Given the description of an element on the screen output the (x, y) to click on. 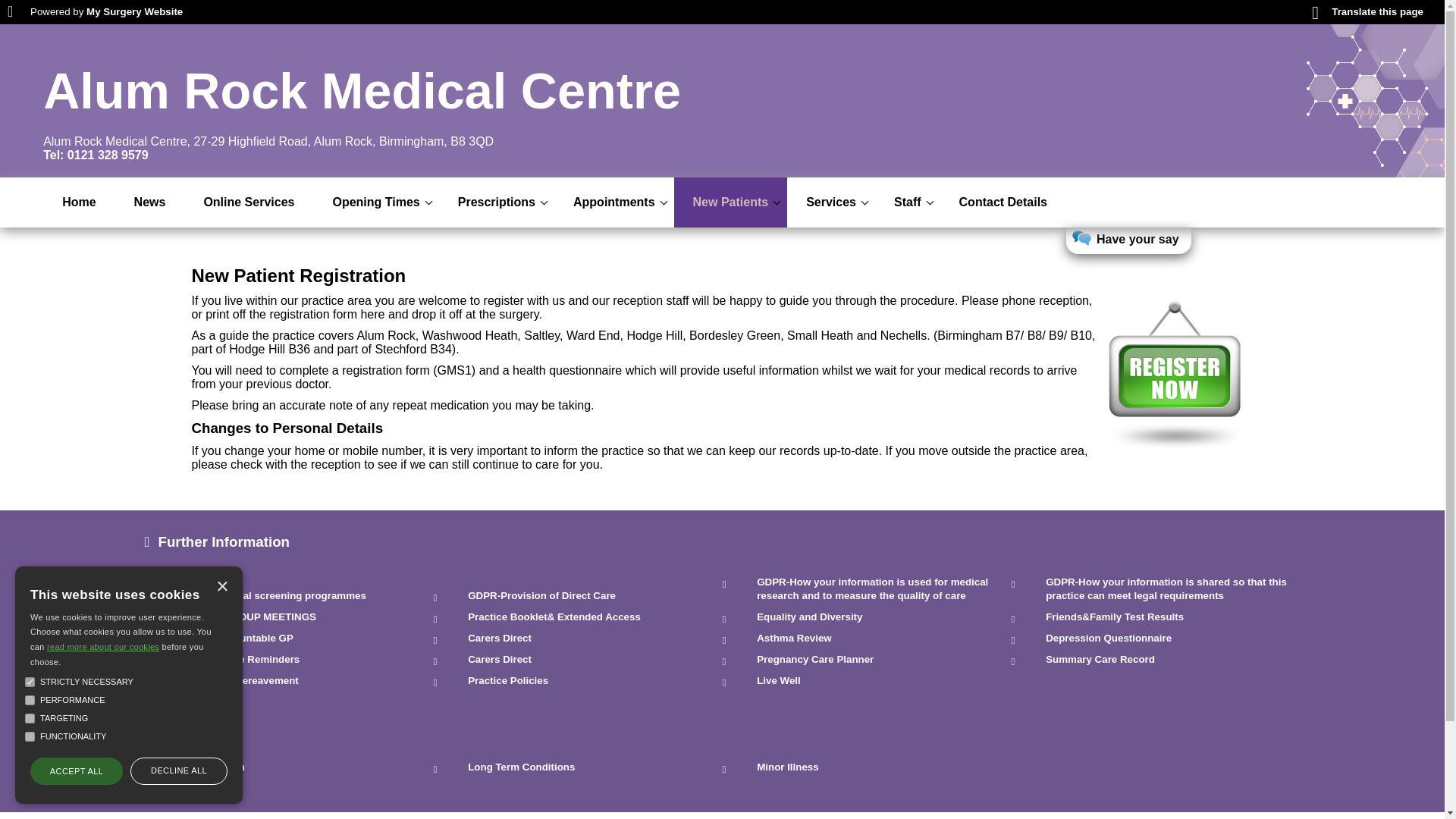
My Surgery Website (134, 11)
Prescriptions (496, 202)
Services (831, 202)
targeting (29, 718)
Online Services (248, 202)
News (149, 202)
Alum Rock Medical Centre (362, 90)
performance (29, 700)
